Given the description of an element on the screen output the (x, y) to click on. 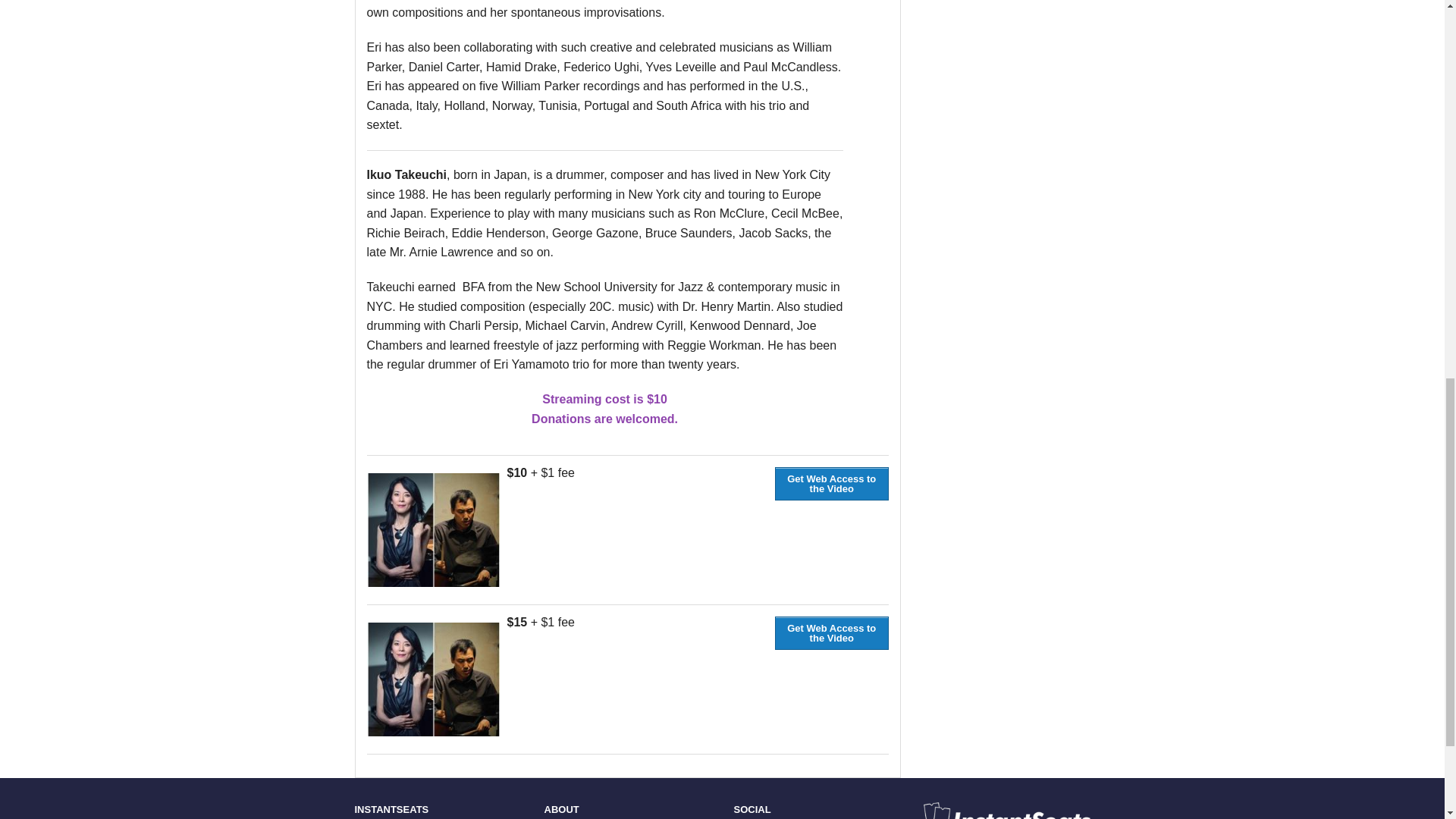
Get Web Access to the Video (831, 632)
Get Web Access to the Video (831, 482)
